Given the description of an element on the screen output the (x, y) to click on. 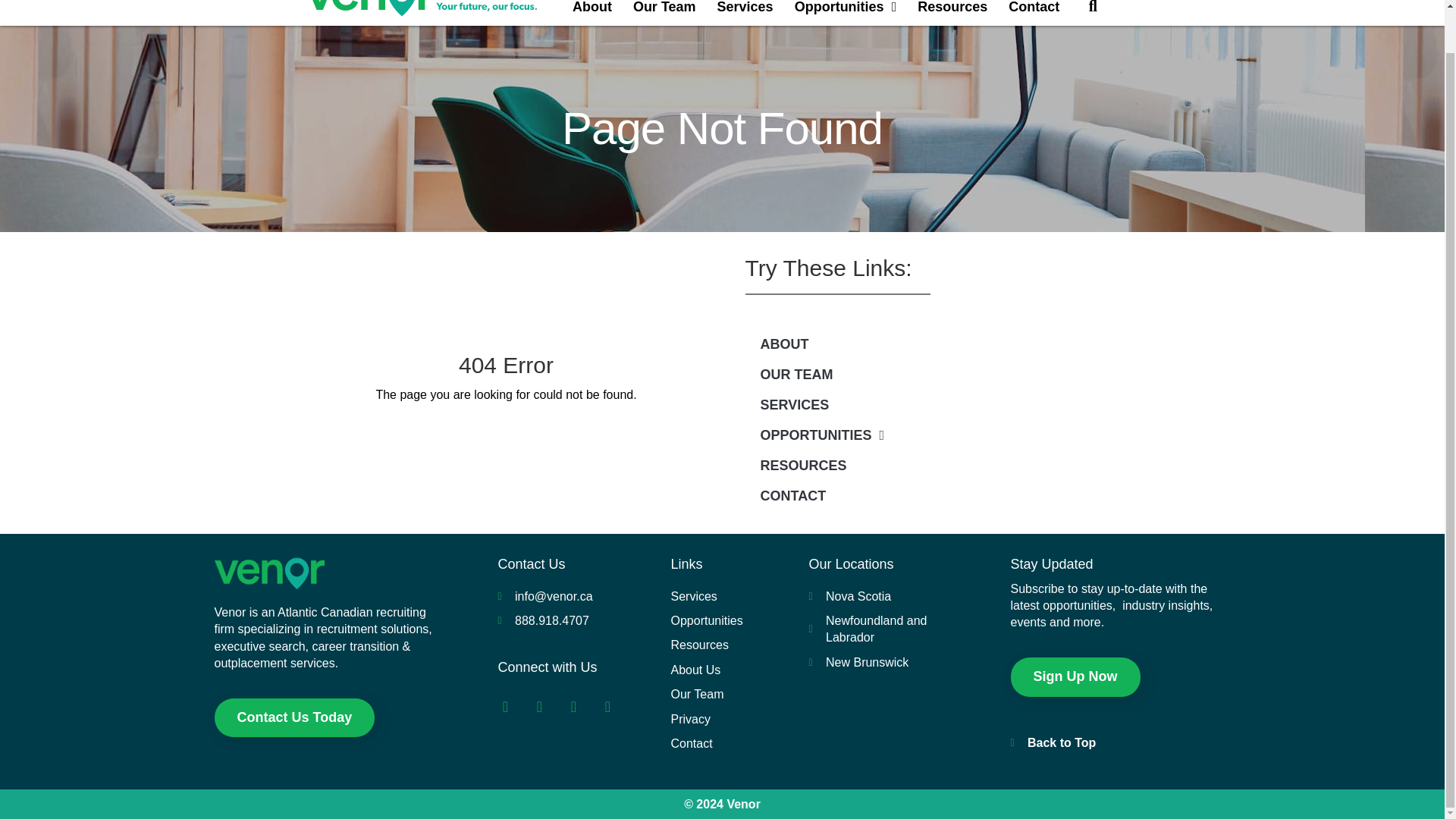
Services (745, 9)
SERVICES (937, 404)
OPPORTUNITIES (937, 435)
Opportunities (845, 9)
OUR TEAM (937, 374)
Our Team (664, 9)
Contact (1033, 9)
Resources (952, 9)
About (592, 9)
ABOUT (937, 344)
